Given the description of an element on the screen output the (x, y) to click on. 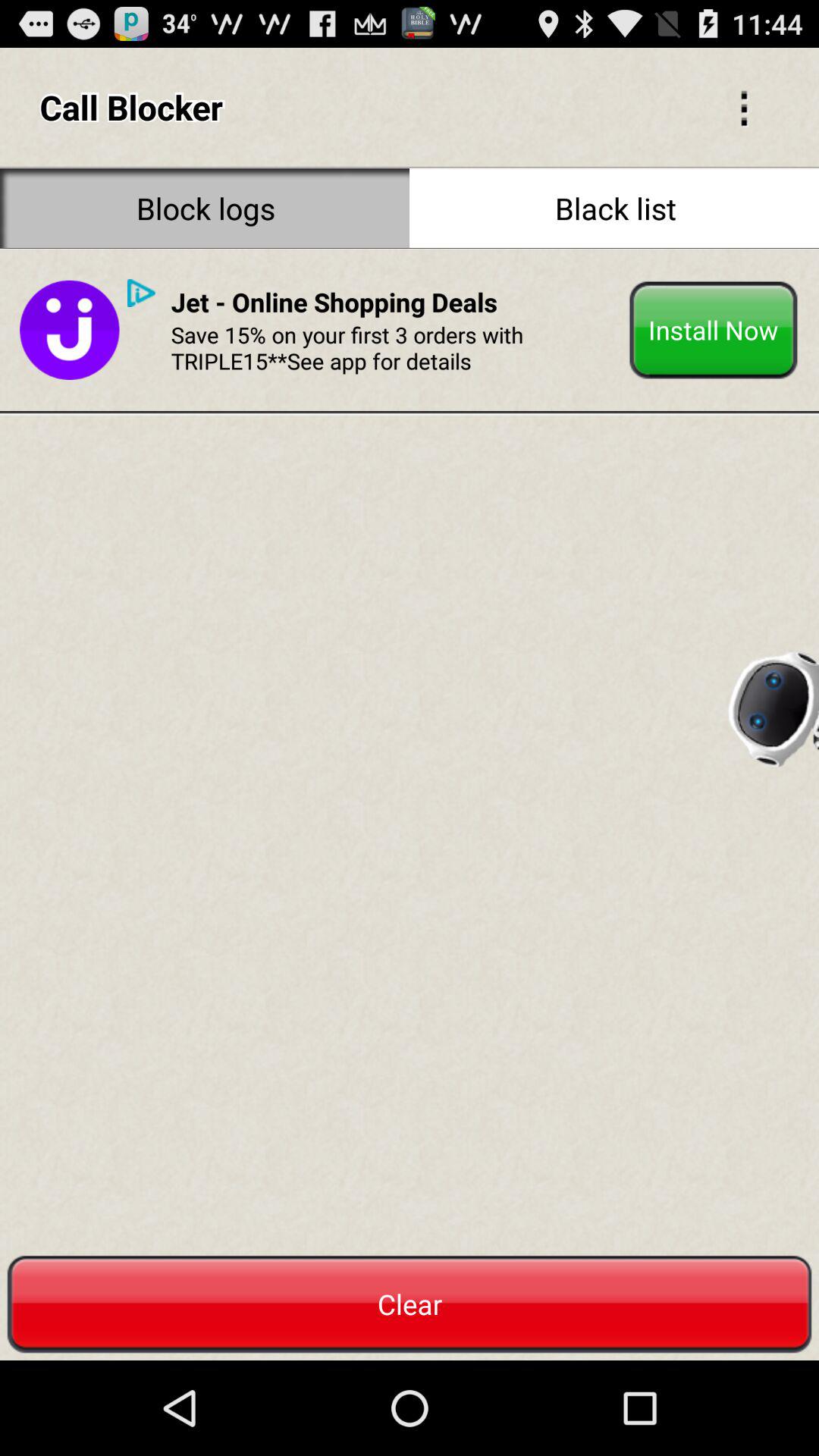
click icon to the right of call blocker icon (744, 107)
